Given the description of an element on the screen output the (x, y) to click on. 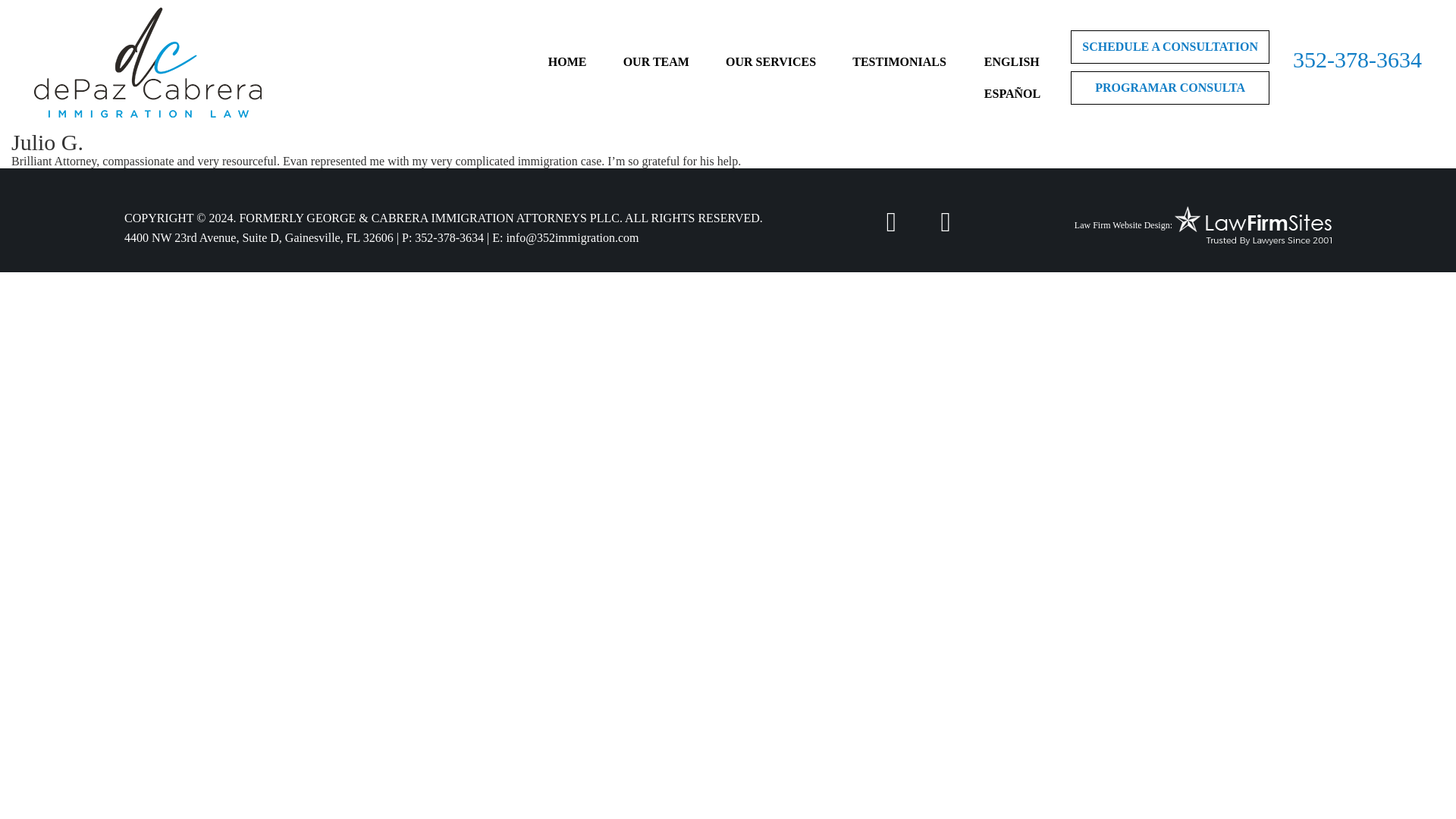
OUR SERVICES (770, 61)
Law Firm Website Design: (1123, 225)
PROGRAMAR CONSULTA (1169, 87)
SCHEDULE A CONSULTATION (1169, 46)
English (1012, 61)
352-378-3634 (1357, 59)
ENGLISH (1012, 61)
HOME (567, 61)
352-378-3634 (448, 237)
dePaz Cabrera Immigration Law (147, 62)
